Given the description of an element on the screen output the (x, y) to click on. 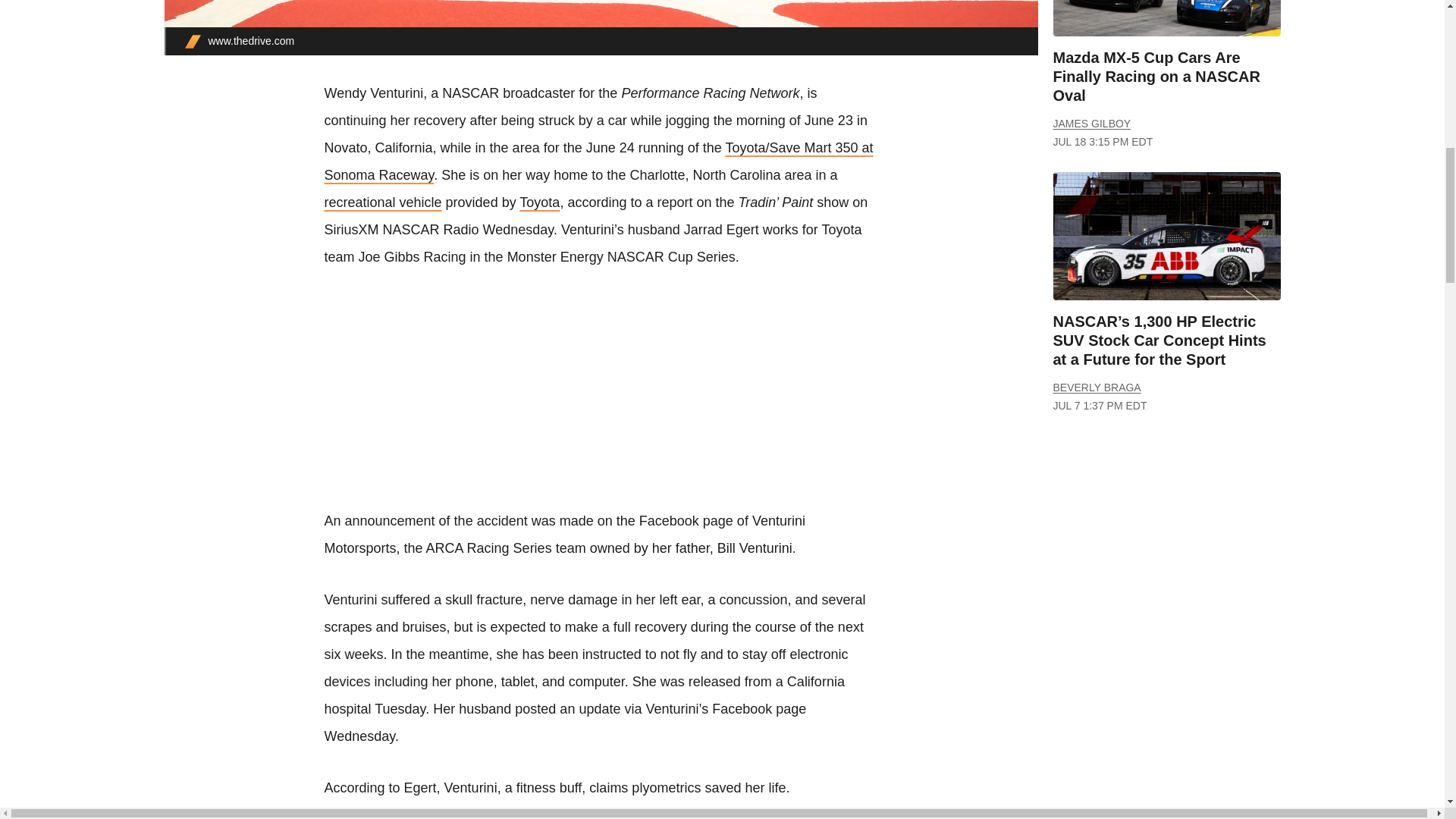
3rd party ad content (600, 400)
3rd party ad content (1165, 564)
